Given the description of an element on the screen output the (x, y) to click on. 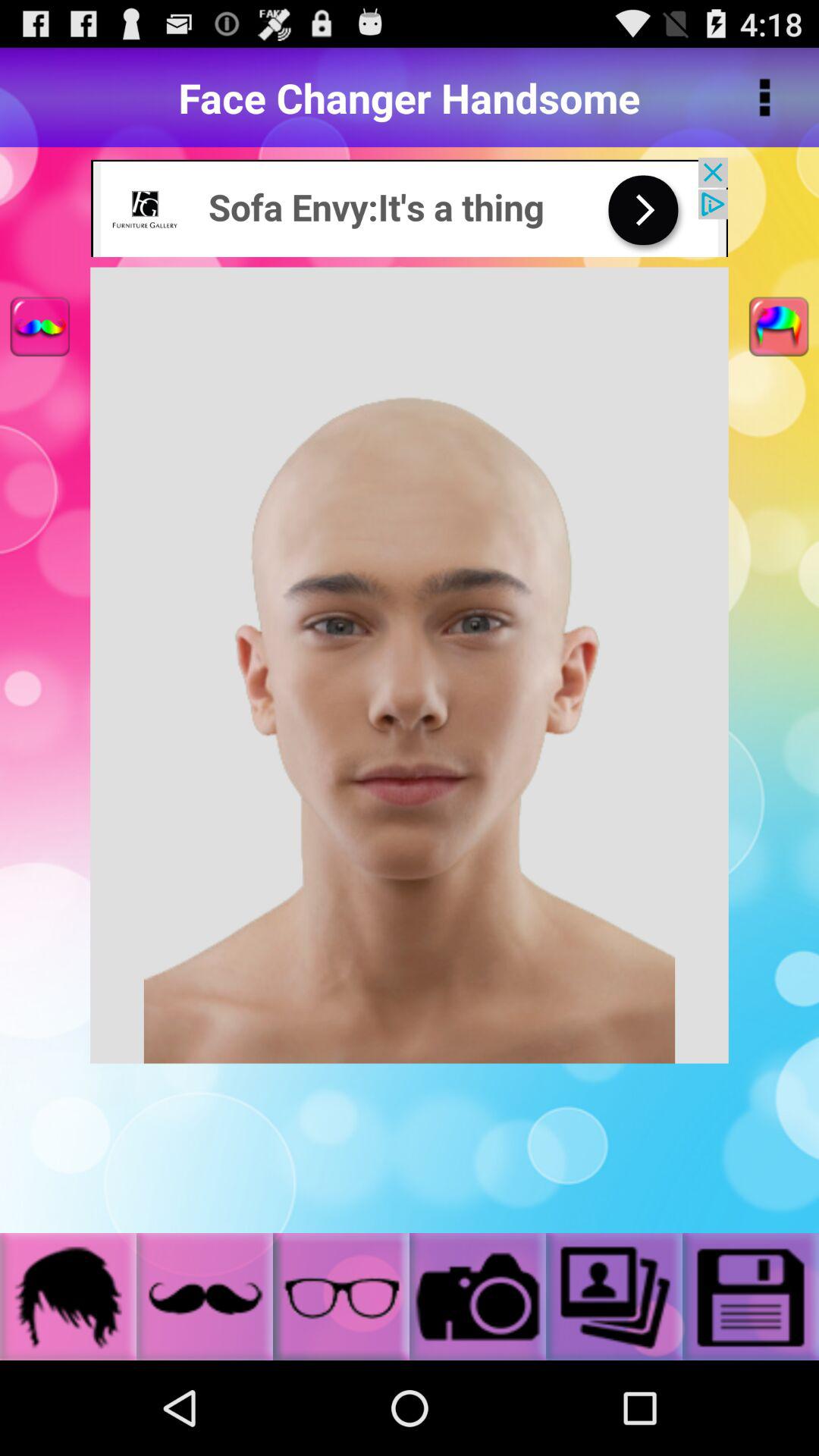
click save button (750, 1296)
